Given the description of an element on the screen output the (x, y) to click on. 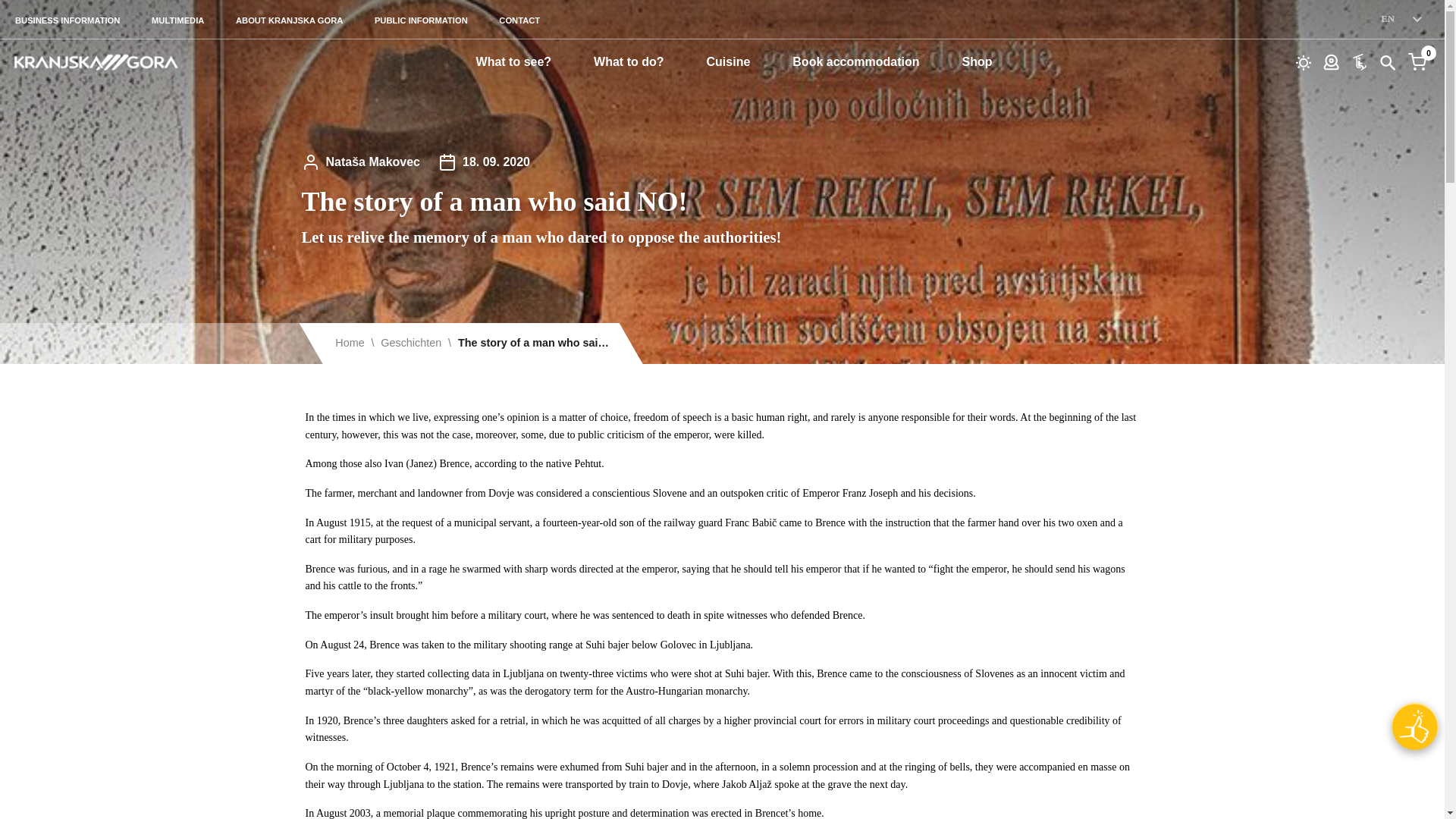
PUBLIC INFORMATION (420, 20)
0 (1417, 60)
MULTIMEDIA (177, 20)
Shop (976, 61)
EN (1401, 18)
Book accommodation (855, 61)
What to do? (628, 61)
What to see? (513, 61)
Cuisine (728, 61)
BUSINESS INFORMATION (68, 20)
